Given the description of an element on the screen output the (x, y) to click on. 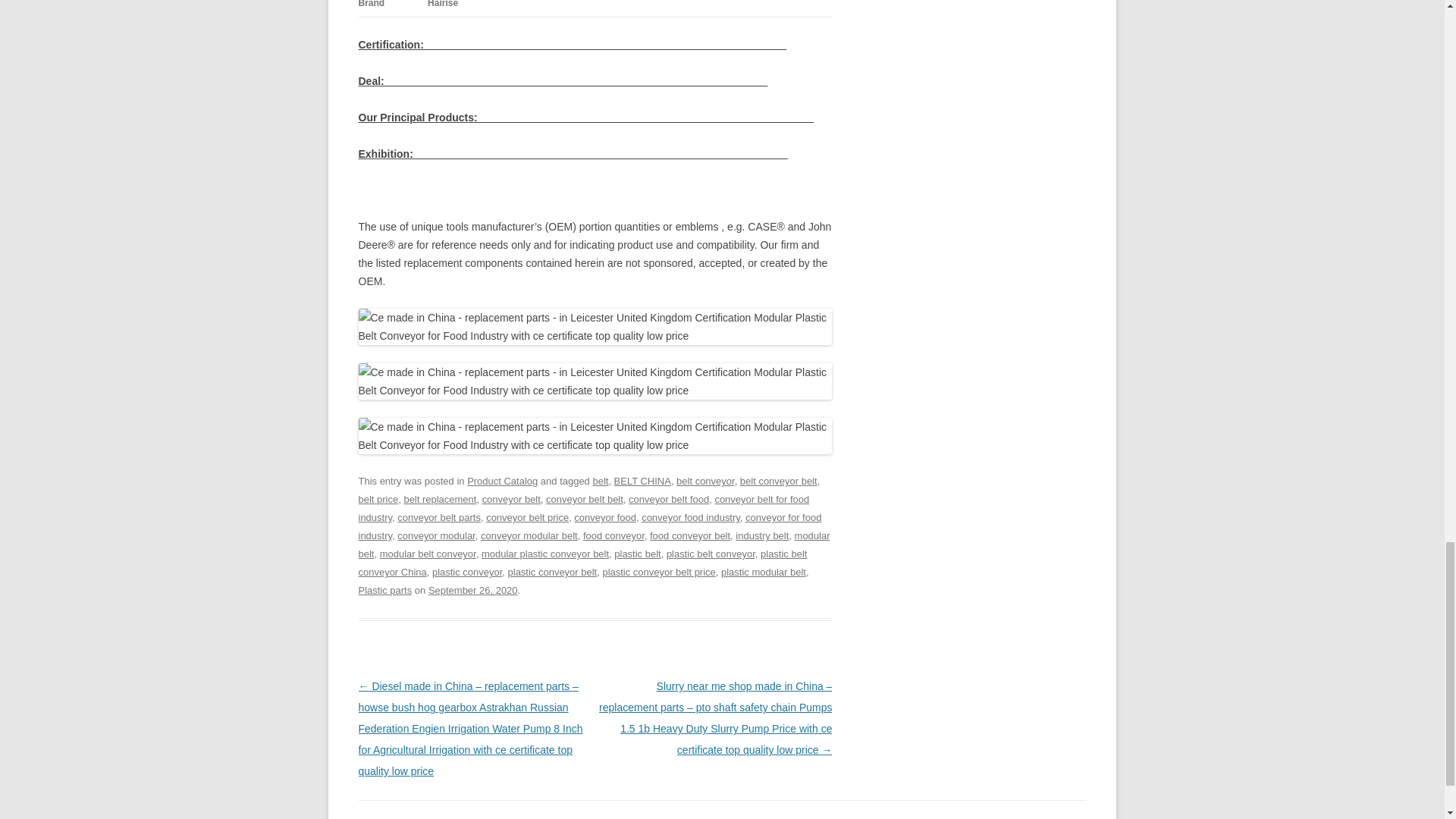
Plastic parts (385, 590)
belt (600, 480)
conveyor belt food (668, 499)
plastic conveyor (467, 572)
modular plastic conveyor belt (544, 553)
conveyor modular (436, 535)
conveyor food industry (690, 517)
modular belt conveyor (428, 553)
10:44 pm (473, 590)
plastic belt conveyor (710, 553)
conveyor for food industry (589, 526)
modular belt (593, 544)
conveyor belt parts (438, 517)
conveyor modular belt (529, 535)
conveyor belt price (527, 517)
